Given the description of an element on the screen output the (x, y) to click on. 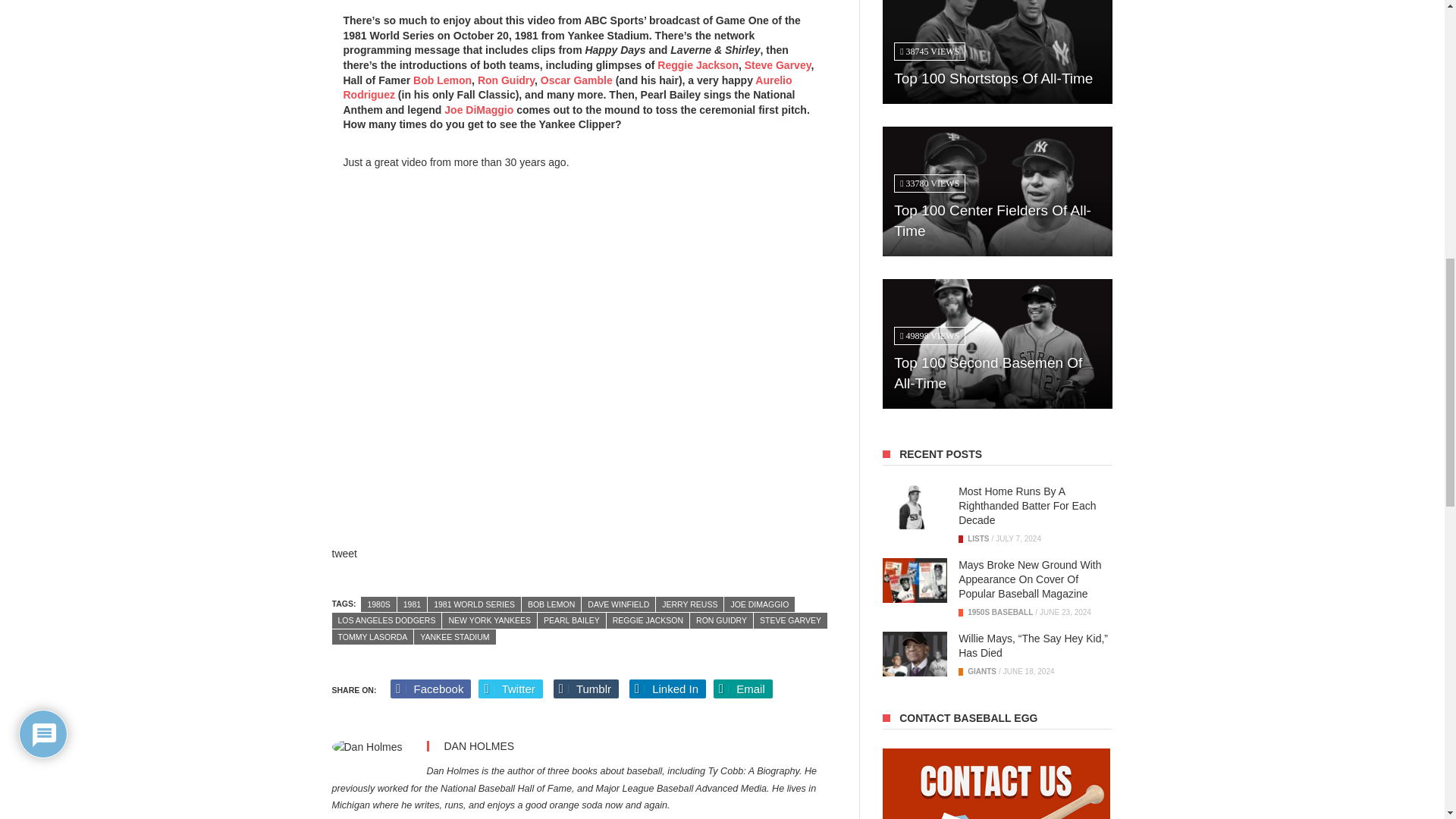
1980s (378, 604)
